Given the description of an element on the screen output the (x, y) to click on. 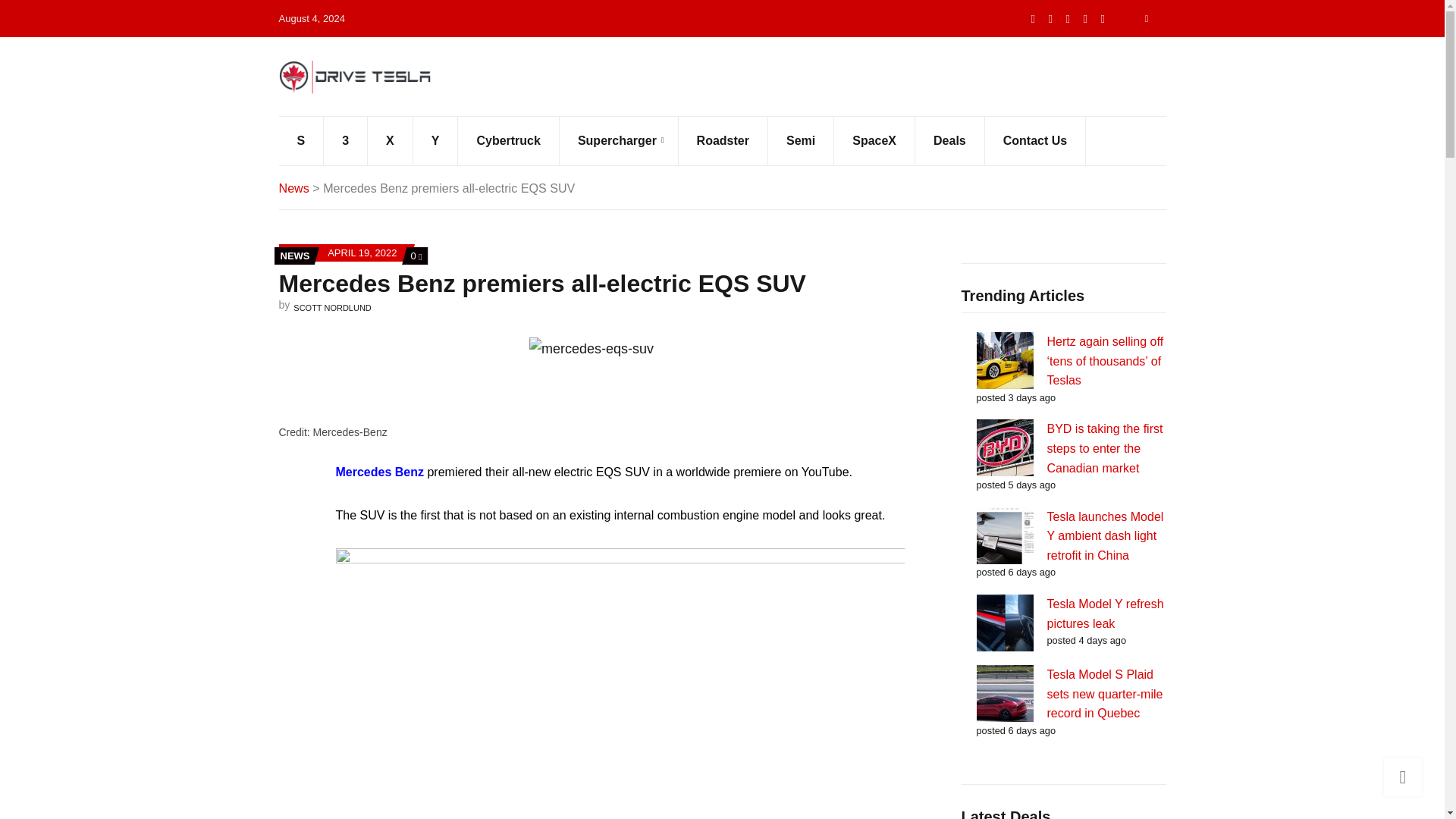
X (390, 141)
Semi (801, 141)
SpaceX (874, 141)
Go to the News category archives. (293, 187)
S (301, 141)
Supercharger (618, 141)
3 (345, 141)
Contact Us (1035, 141)
Mercedes Benz (378, 472)
Facebook (1068, 18)
Instagram (1102, 18)
Roadster (723, 141)
NEWS (295, 255)
News (293, 187)
